Given the description of an element on the screen output the (x, y) to click on. 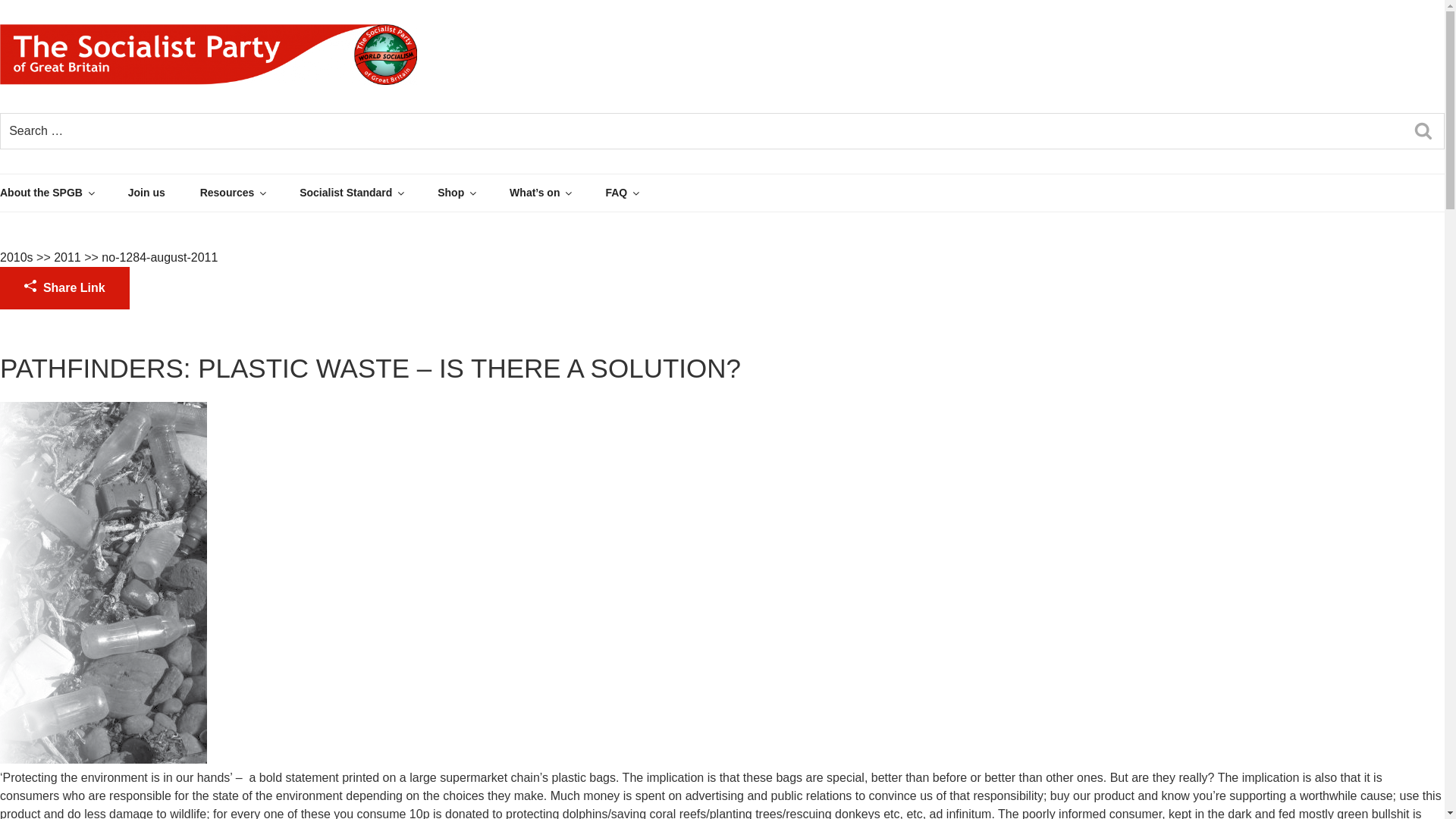
About the SPGB (62, 192)
Join us (162, 192)
Search (1423, 131)
Resources (248, 192)
